Given the description of an element on the screen output the (x, y) to click on. 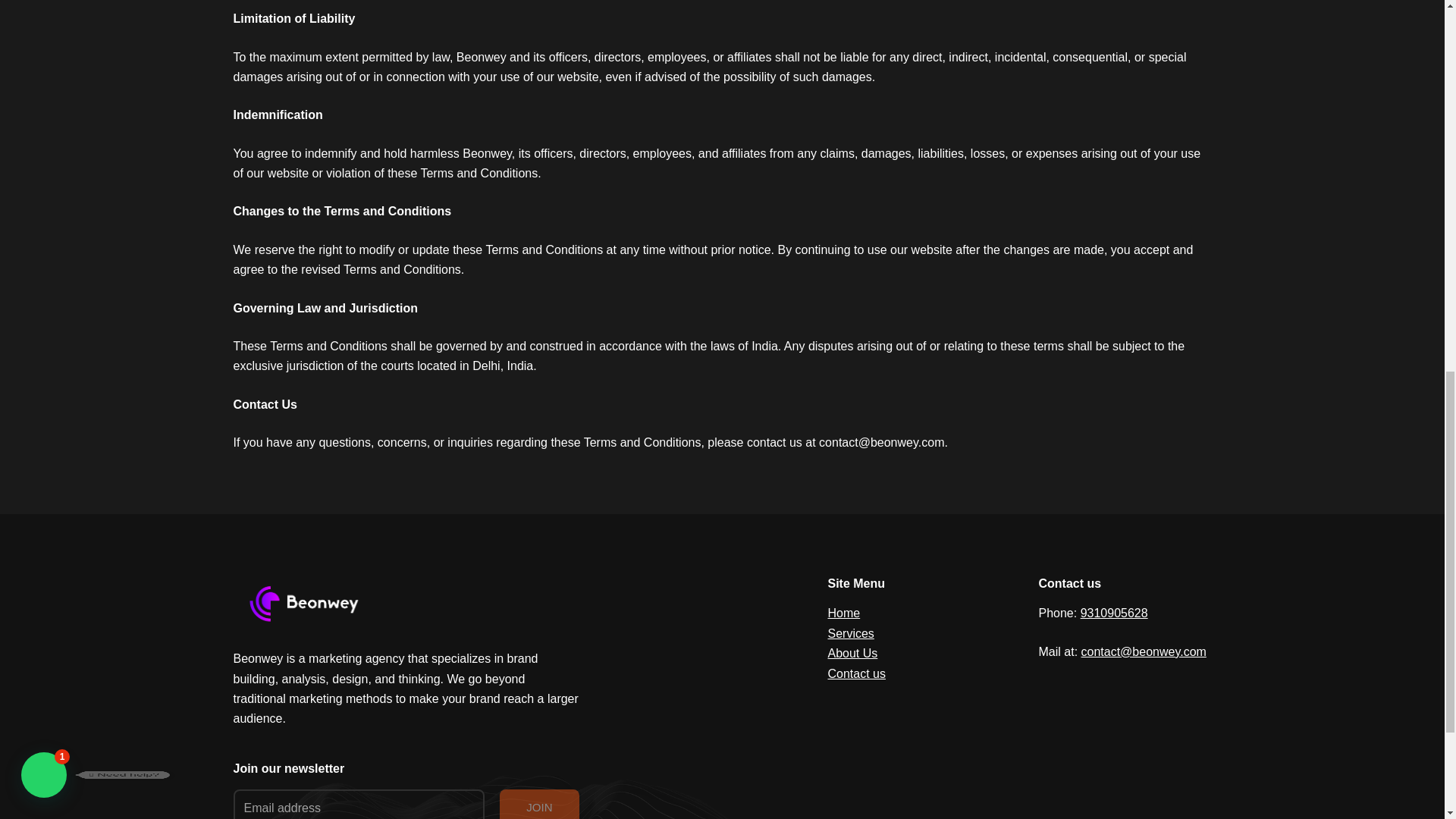
JOIN (538, 804)
Home (844, 612)
About Us (852, 653)
9310905628 (1114, 612)
Services (851, 633)
Contact us (856, 673)
